Given the description of an element on the screen output the (x, y) to click on. 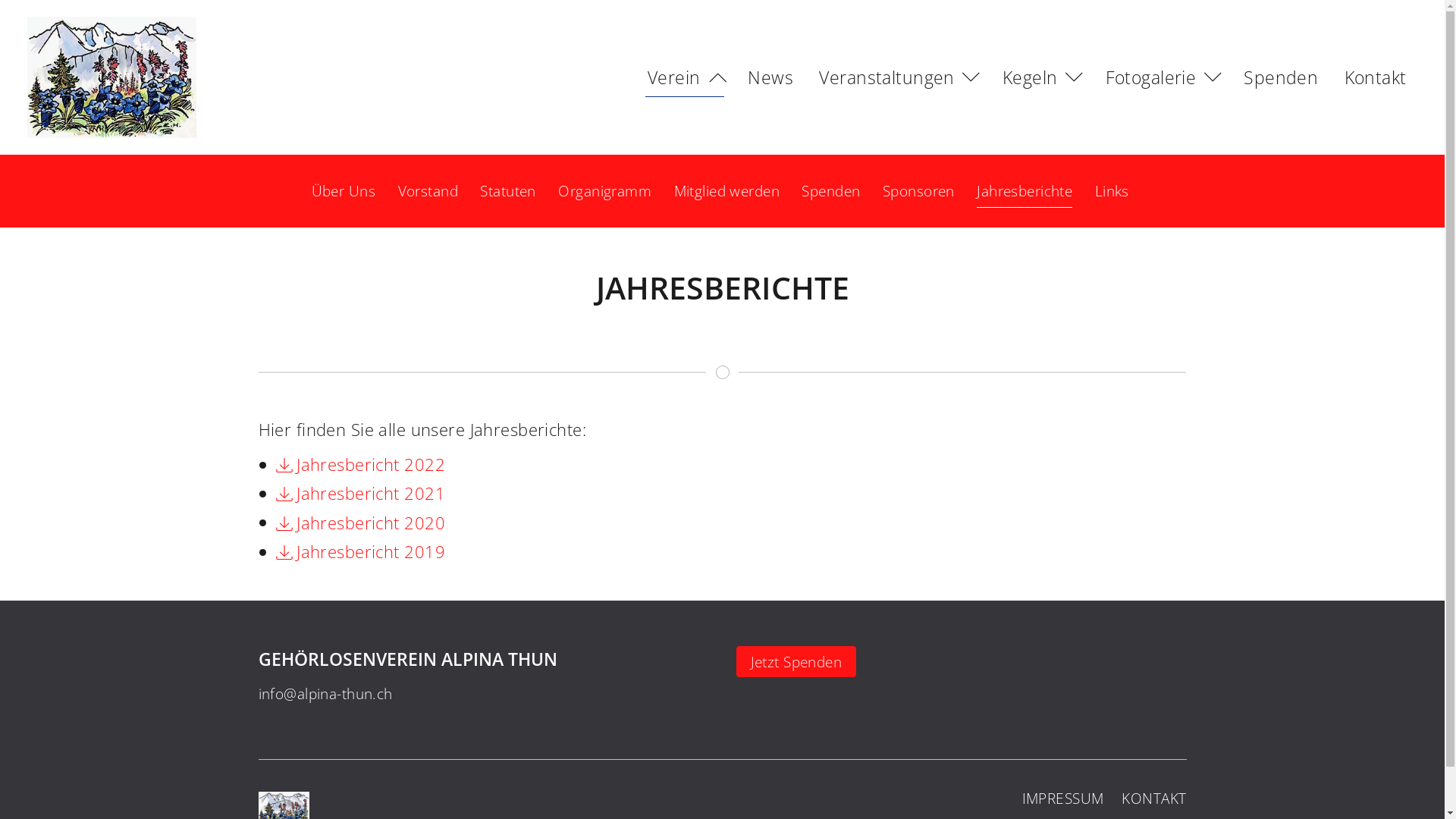
Veranstaltungen Element type: text (897, 77)
Jahresbericht 2021 Element type: text (360, 493)
info@alpina-thun.ch Element type: text (324, 693)
Jetzt Spenden Element type: text (795, 661)
Links Element type: text (1111, 190)
Jahresbericht 2020 Element type: text (360, 522)
Mitglied werden Element type: text (726, 190)
Jahresbericht 2022 Element type: text (360, 464)
Vorstand Element type: text (428, 190)
Verein Element type: text (684, 77)
Kontakt Element type: text (1375, 77)
KONTAKT Element type: text (1153, 797)
Kegeln Element type: text (1040, 77)
Organigramm Element type: text (604, 190)
News Element type: text (770, 77)
Fotogalerie Element type: text (1161, 77)
Spenden Element type: text (830, 190)
Sponsoren Element type: text (918, 190)
Statuten Element type: text (507, 190)
Spenden Element type: text (1281, 77)
Jahresbericht 2019 Element type: text (360, 551)
Jahresberichte Element type: text (1024, 190)
IMPRESSUM Element type: text (1063, 797)
